Given the description of an element on the screen output the (x, y) to click on. 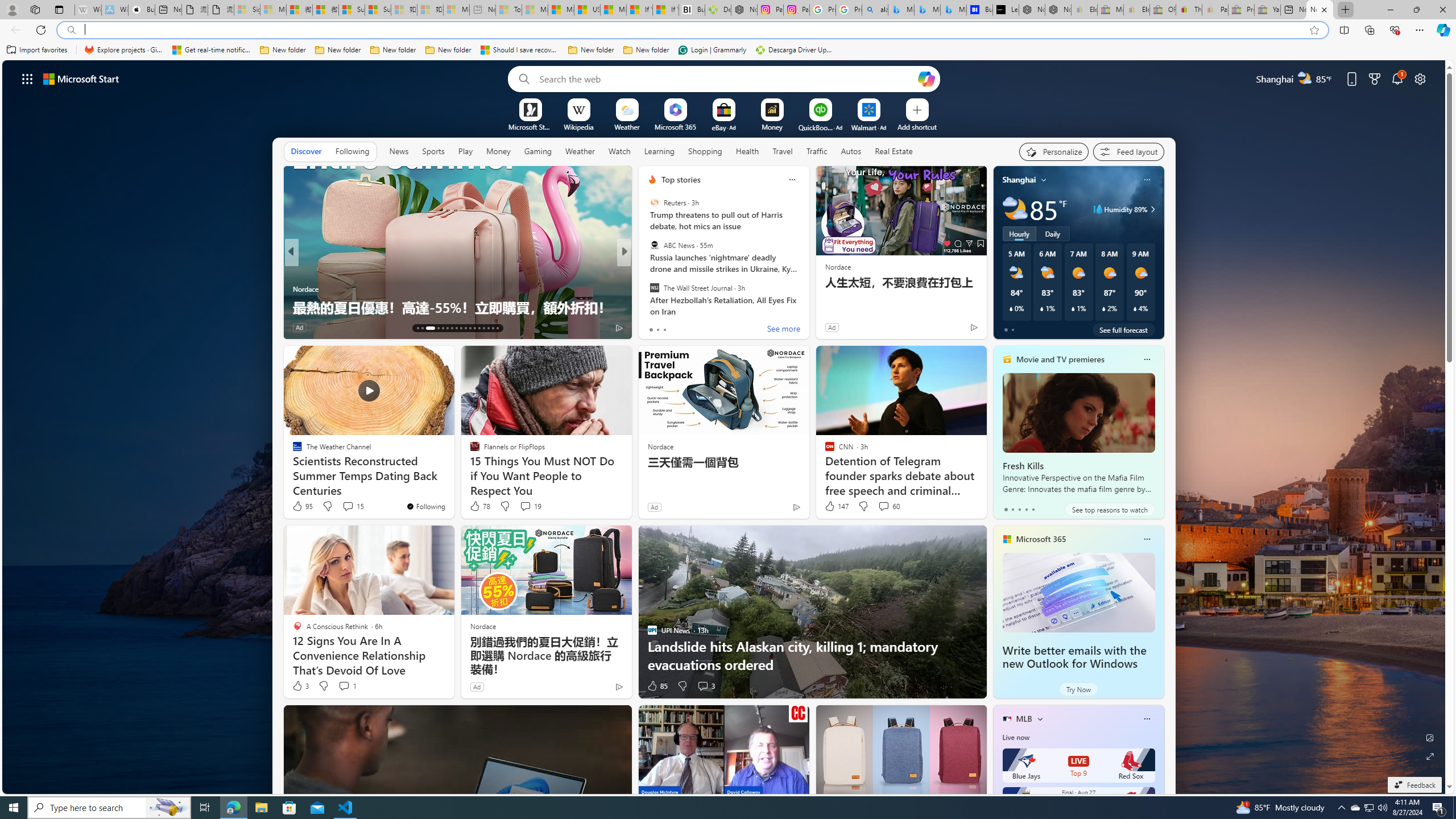
AutomationID: tab-17 (442, 328)
View comments 147 Comment (359, 327)
View comments 1 Comment (347, 685)
US Heat Deaths Soared To Record High Last Year (587, 9)
View comments 19 Comment (530, 505)
View comments 1k Comment (707, 327)
85 Like (657, 685)
Microsoft account | Account Checkup - Sleeping (456, 9)
Microsoft Services Agreement - Sleeping (272, 9)
Deseret News (647, 288)
